Given the description of an element on the screen output the (x, y) to click on. 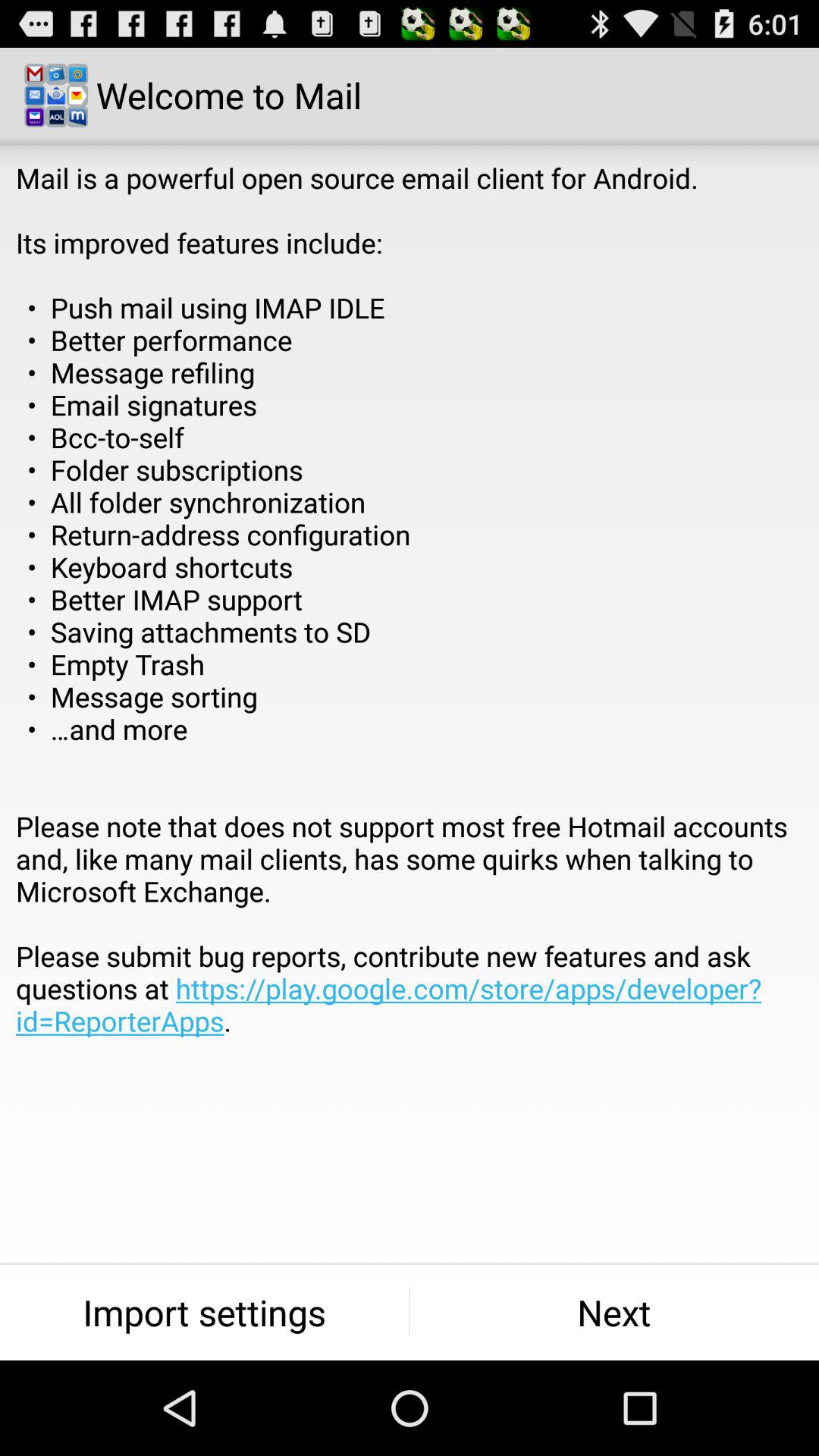
turn on the icon next to the next item (204, 1312)
